Given the description of an element on the screen output the (x, y) to click on. 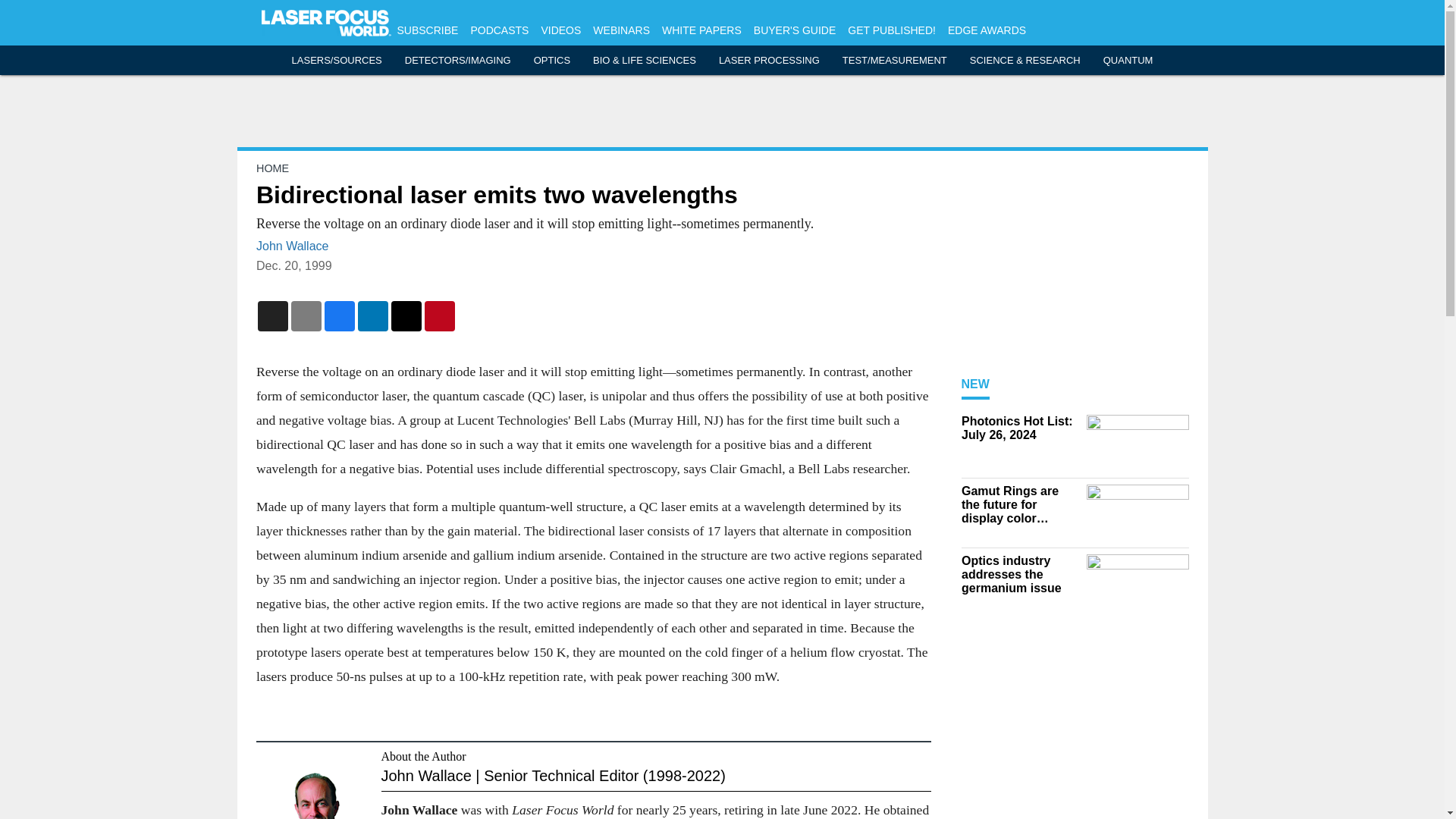
VIDEOS (560, 30)
EDGE AWARDS (986, 30)
WEBINARS (620, 30)
PODCASTS (499, 30)
OPTICS (552, 60)
WHITE PAPERS (701, 30)
GET PUBLISHED! (891, 30)
John Wallace (292, 245)
QUANTUM (1128, 60)
BUYER'S GUIDE (794, 30)
HOME (272, 168)
SUBSCRIBE (427, 30)
LASER PROCESSING (769, 60)
